Given the description of an element on the screen output the (x, y) to click on. 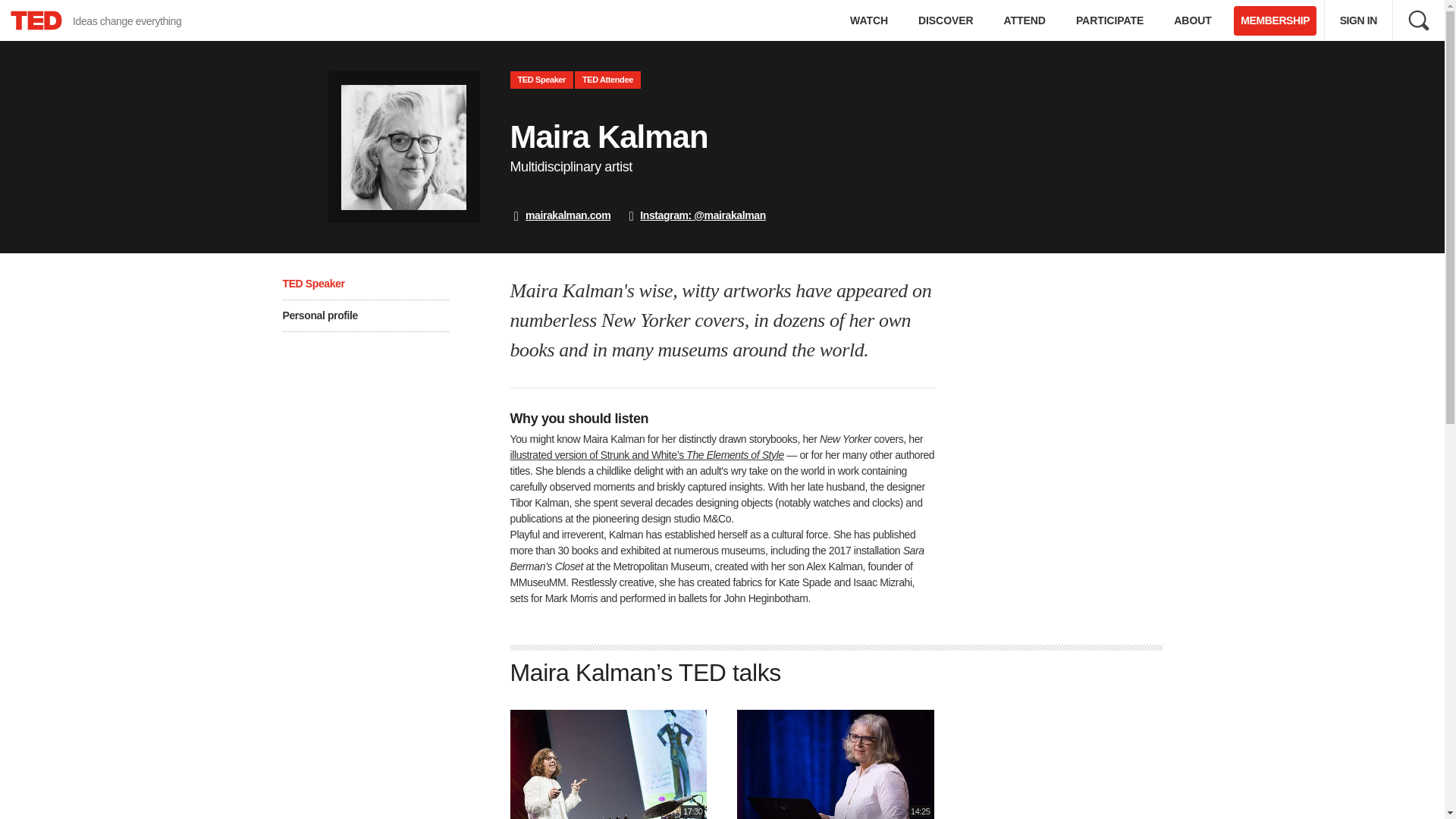
ATTEND (1024, 20)
PARTICIPATE (1109, 20)
MEMBERSHIP (1274, 20)
TED (36, 20)
WATCH (868, 20)
TED Speaker (540, 79)
ABOUT (1191, 20)
SIGN IN (1357, 20)
TED Attendee (607, 79)
Search (1418, 20)
